Given the description of an element on the screen output the (x, y) to click on. 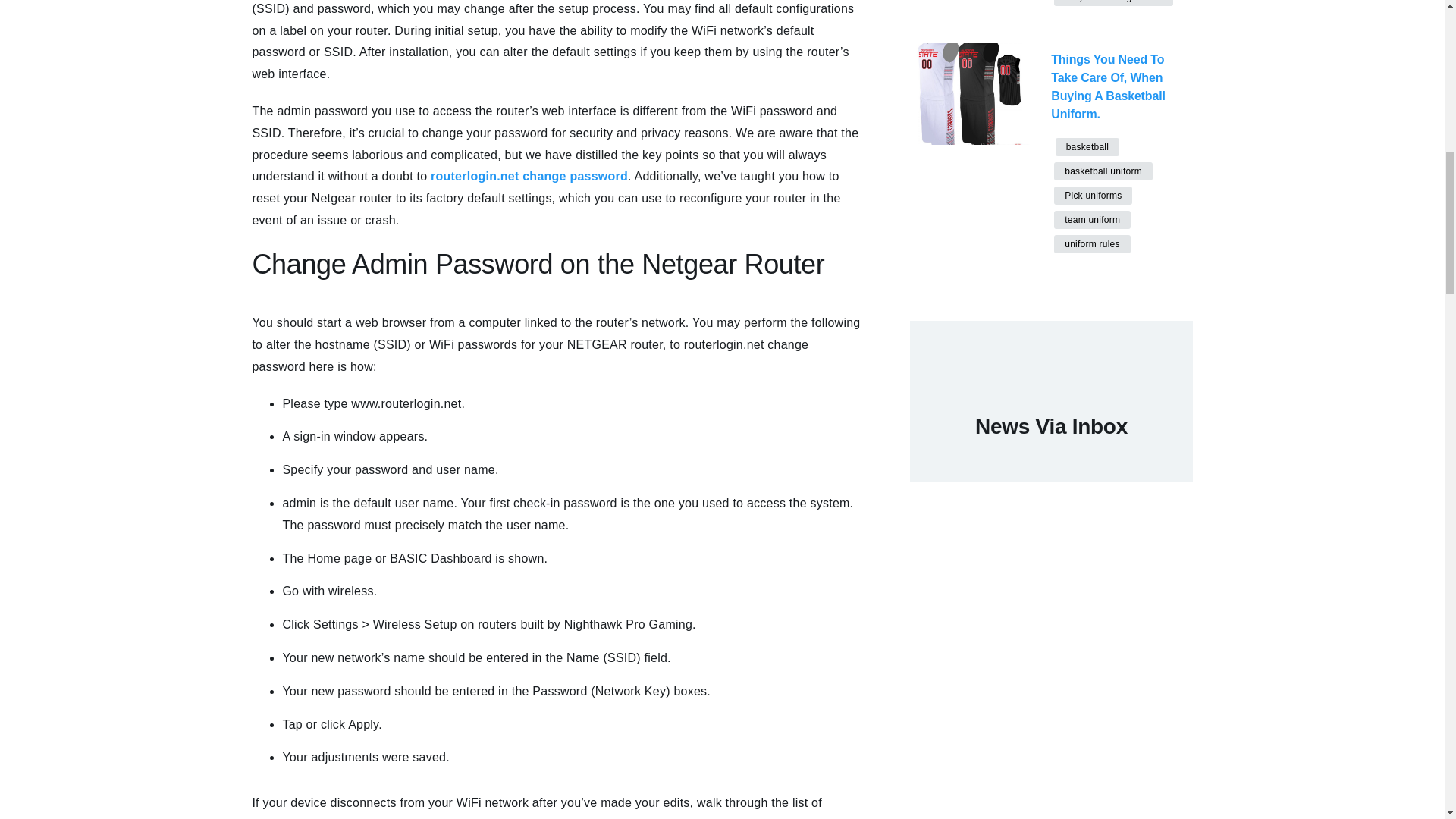
Why we use algorithms (1113, 2)
routerlogin.net change password (528, 175)
basketball (1087, 147)
